Given the description of an element on the screen output the (x, y) to click on. 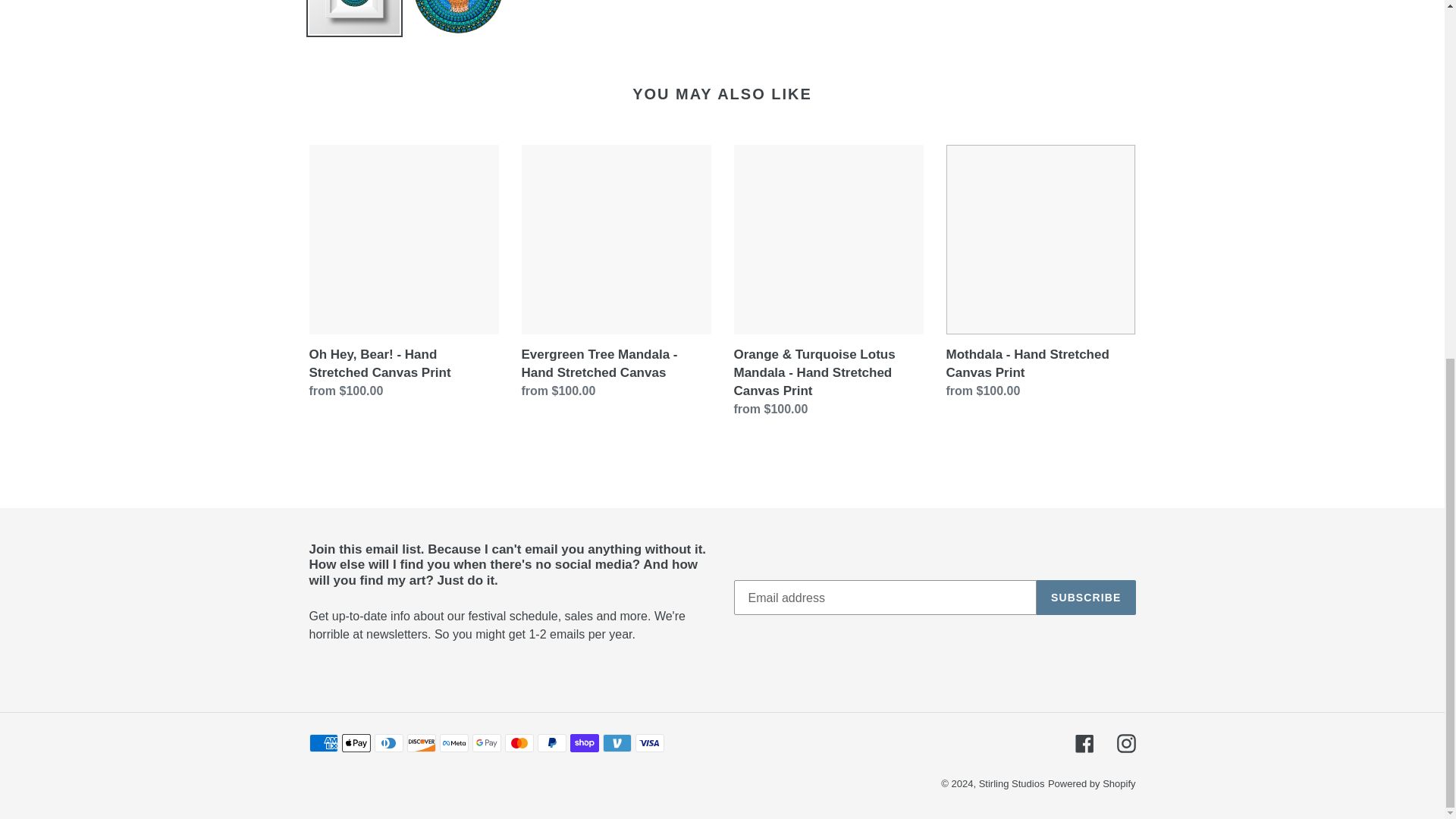
Stirling Studios (1011, 783)
Instagram (1125, 742)
Powered by Shopify (1091, 783)
Facebook (1084, 742)
SUBSCRIBE (1085, 597)
